Given the description of an element on the screen output the (x, y) to click on. 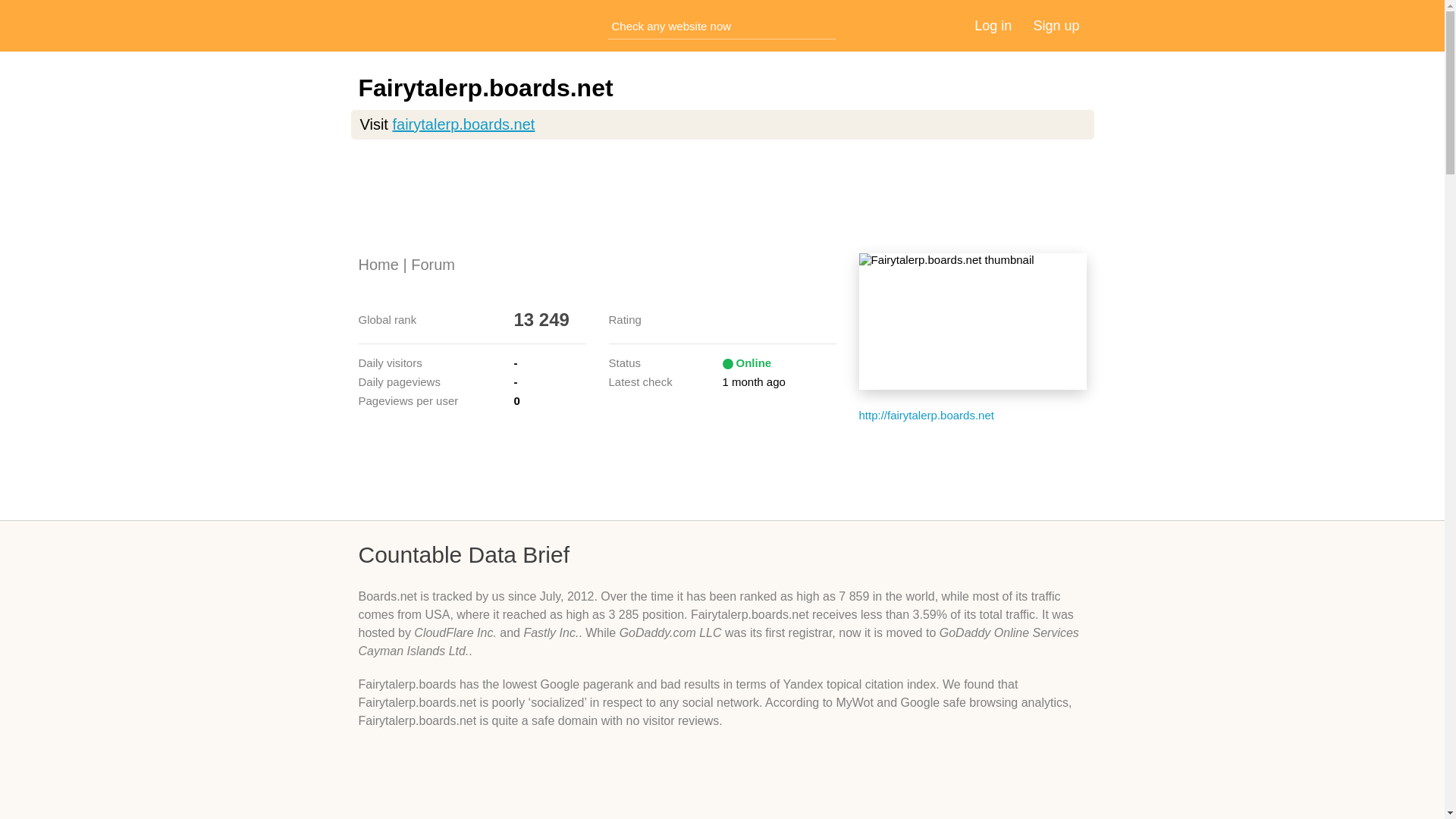
Fairytalerp.boards.net thumbnail (972, 321)
Log in (992, 25)
fairytalerp.boards.net (462, 124)
Sign up (1056, 25)
